Given the description of an element on the screen output the (x, y) to click on. 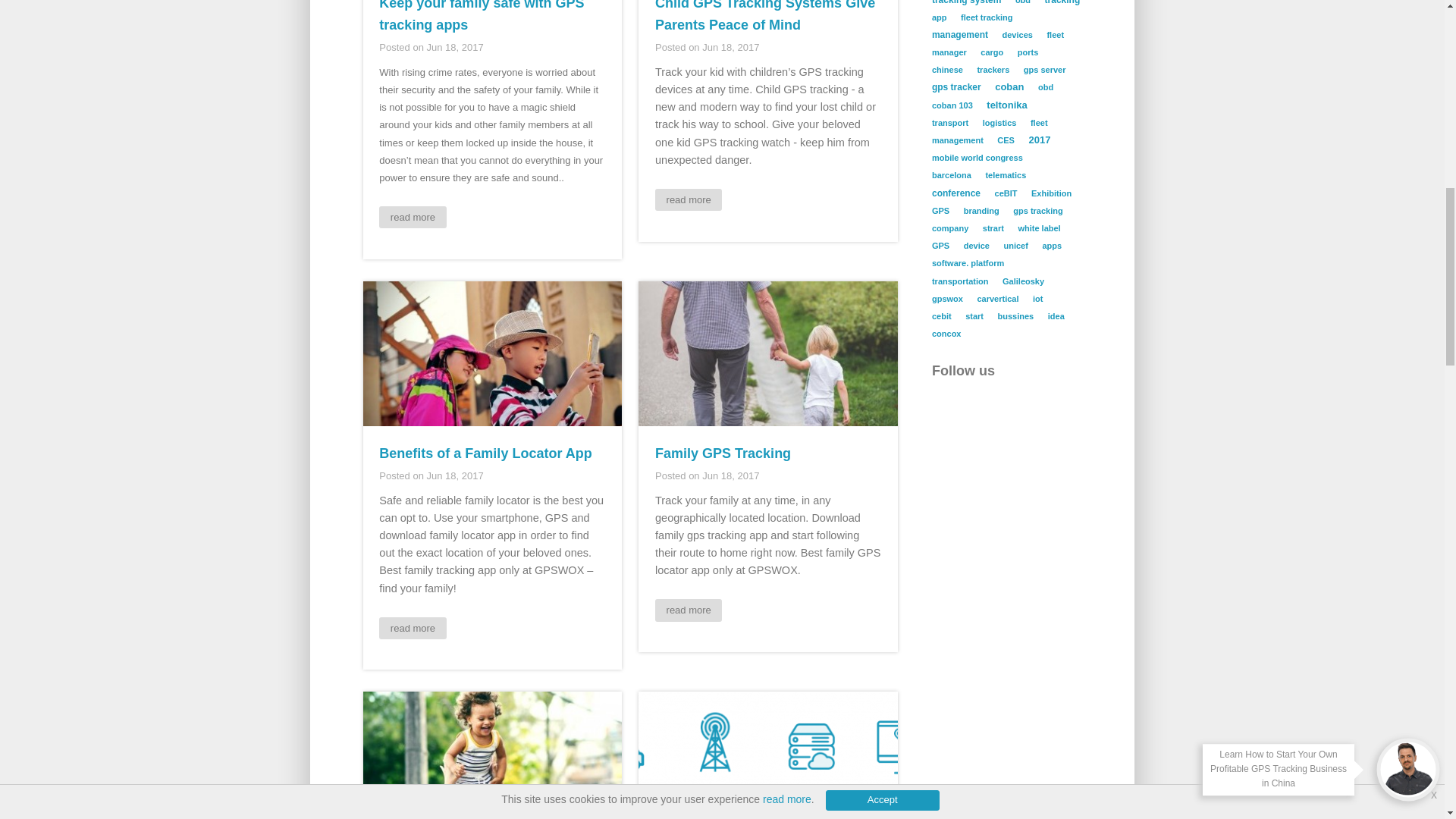
Benefits of a Family Locator App (484, 453)
Family GPS Tracking (722, 453)
Child GPS Tracking Systems Give Parents Peace of Mind (765, 16)
Keep your family safe with GPS tracking apps (480, 16)
